Given the description of an element on the screen output the (x, y) to click on. 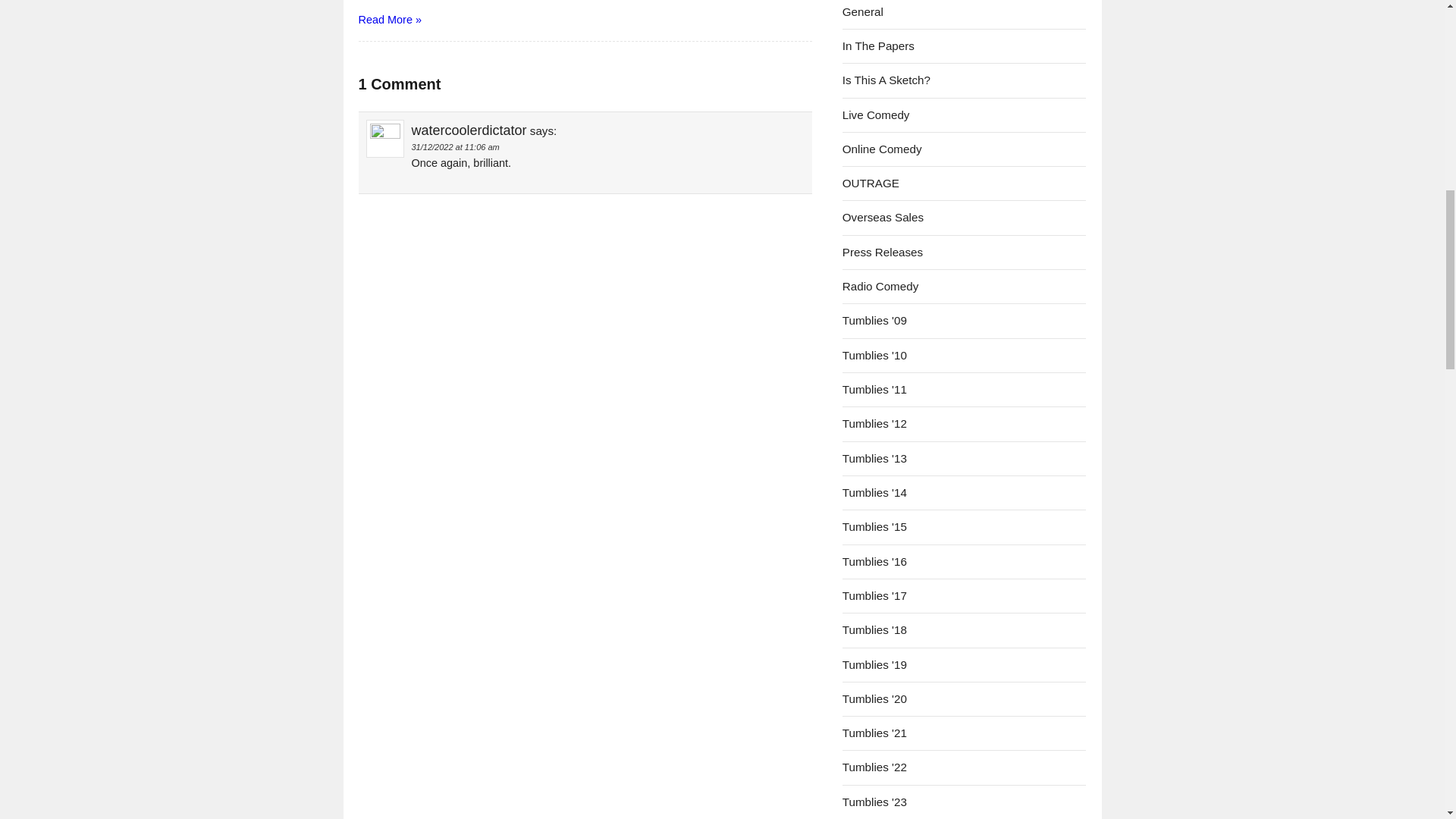
Live Comedy (876, 114)
General (863, 11)
In The Papers (878, 45)
Is This A Sketch? (886, 79)
